Given the description of an element on the screen output the (x, y) to click on. 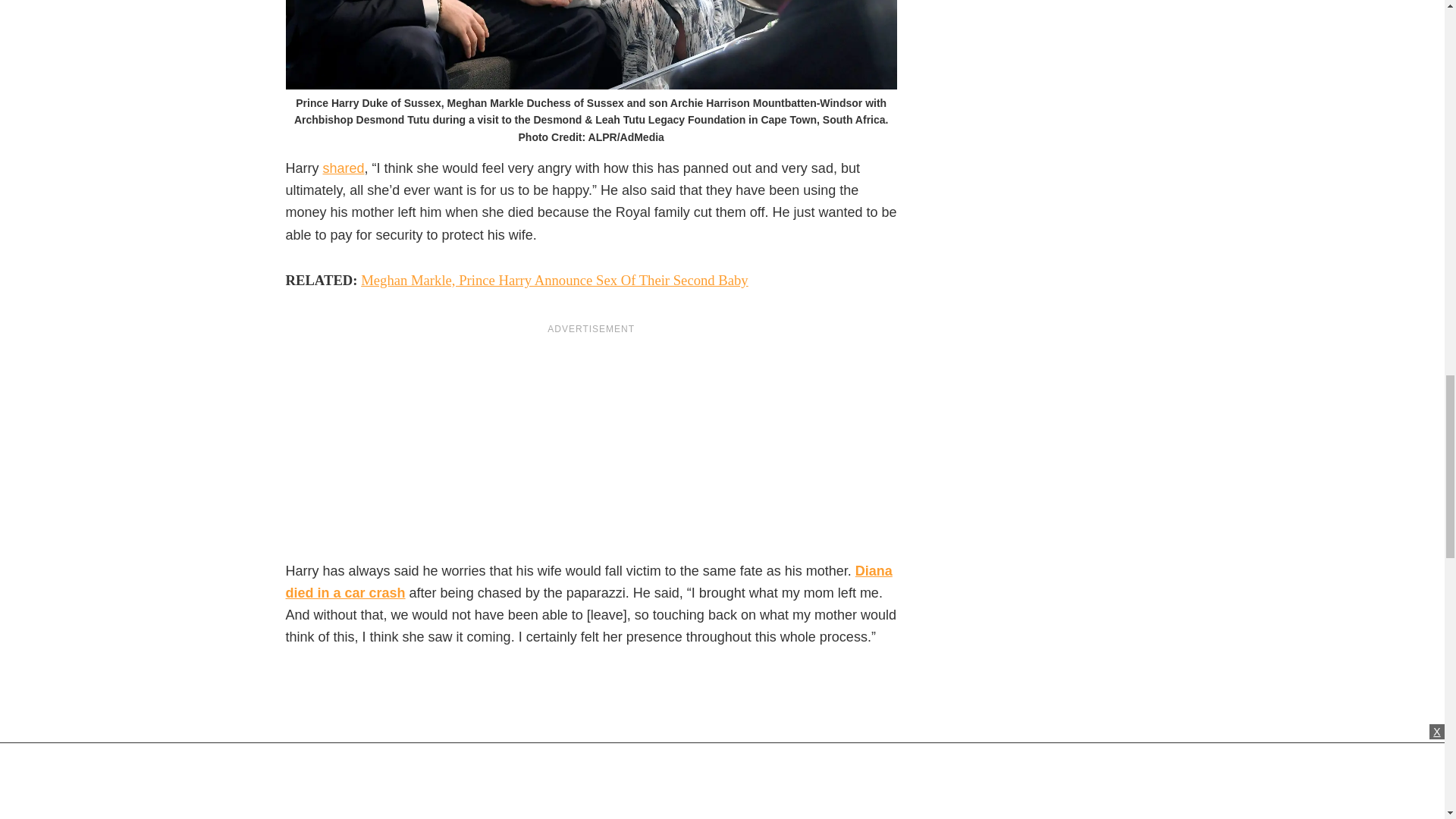
3rd party ad content (590, 448)
princess-diana (451, 682)
harry-meghan (590, 44)
Diana died in a car crash (588, 581)
shared (344, 168)
